Given the description of an element on the screen output the (x, y) to click on. 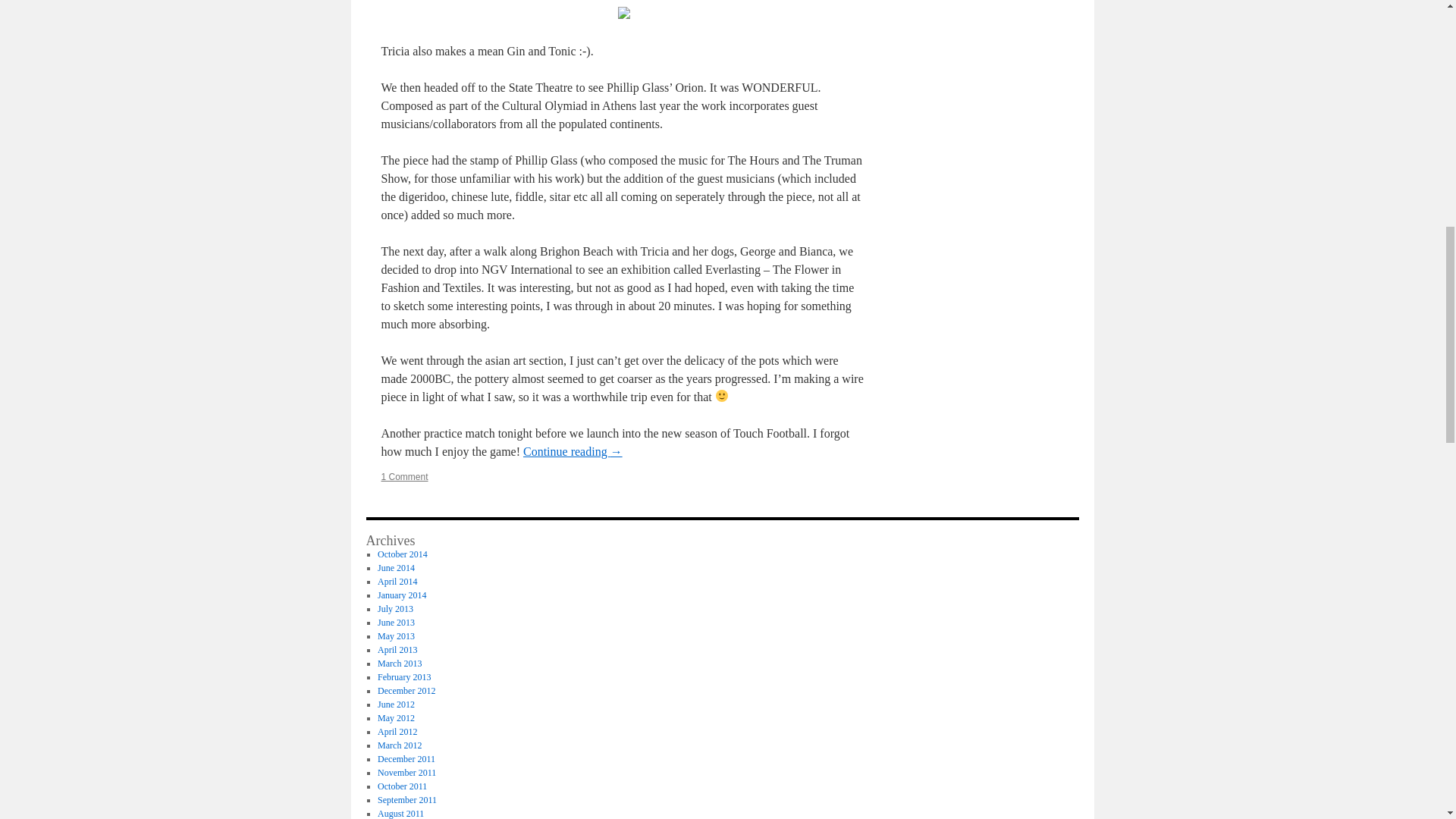
June 2013 (395, 622)
June 2012 (395, 704)
April 2014 (396, 581)
April 2013 (396, 649)
March 2013 (399, 663)
June 2014 (395, 567)
1 Comment (404, 476)
January 2014 (401, 594)
October 2014 (402, 553)
May 2012 (395, 717)
